Given the description of an element on the screen output the (x, y) to click on. 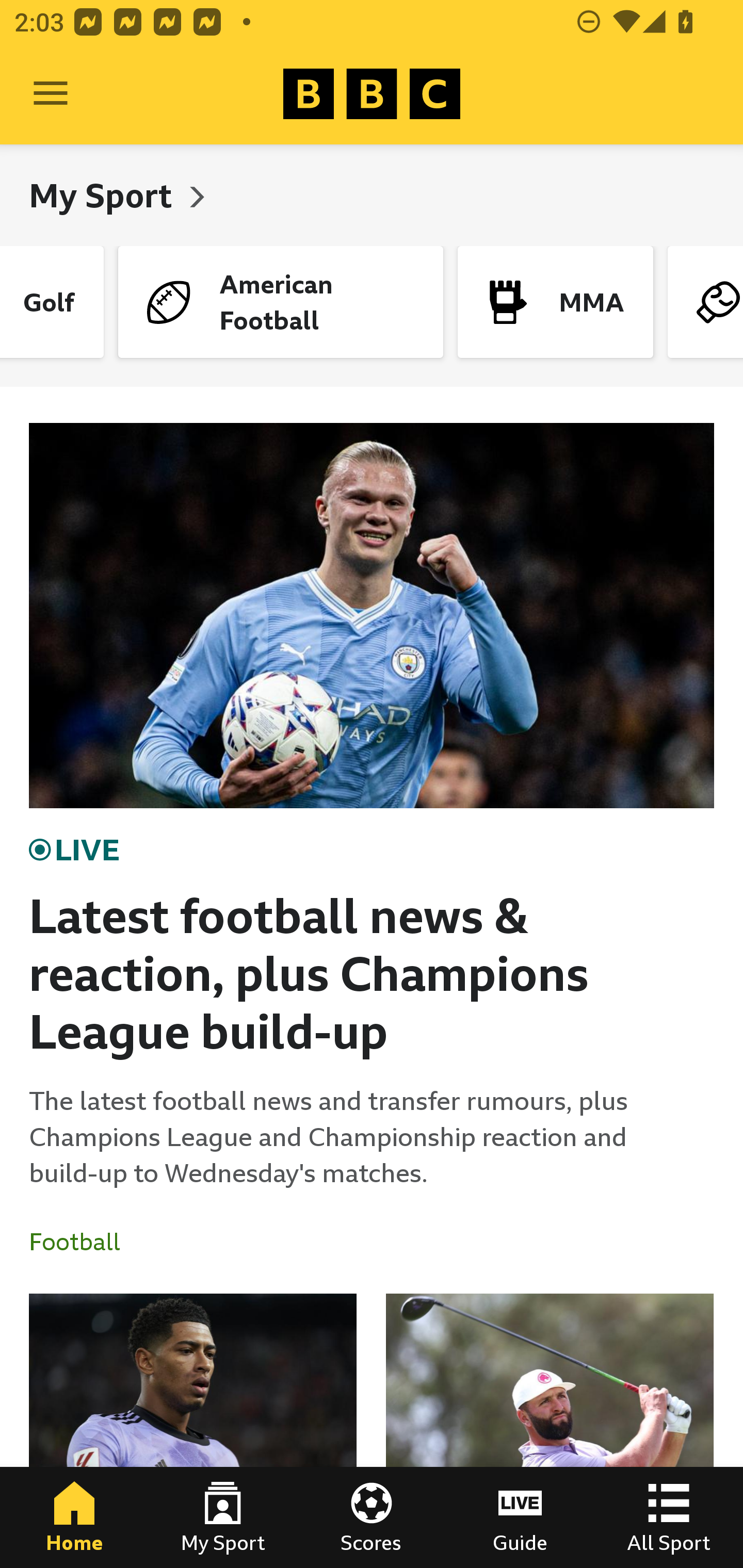
Open Menu (50, 93)
My Sport (104, 195)
Football In the section Football (81, 1241)
Real midfielder Bellingham banned for two games (192, 1430)
My Sport (222, 1517)
Scores (371, 1517)
Guide (519, 1517)
All Sport (668, 1517)
